Given the description of an element on the screen output the (x, y) to click on. 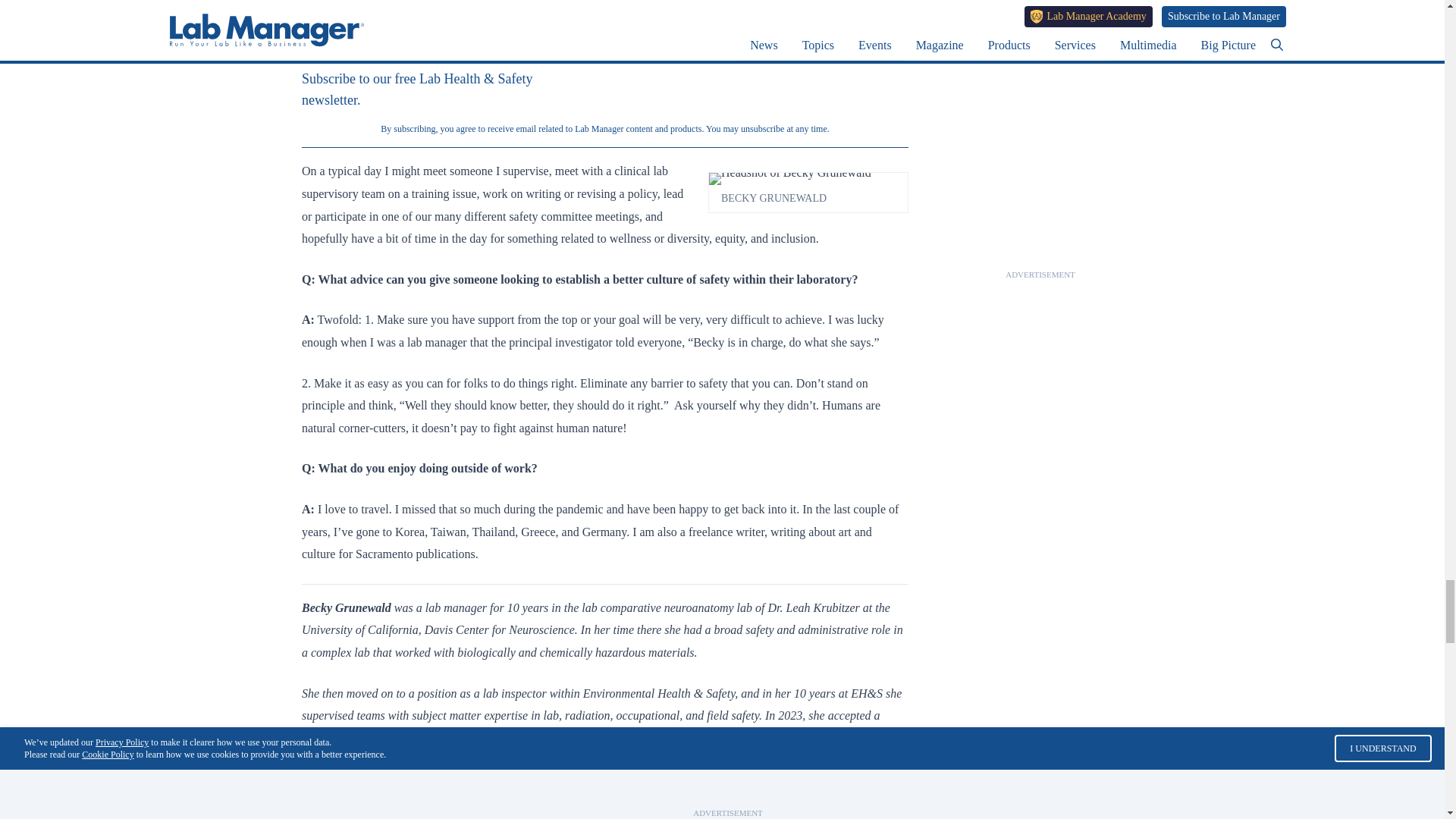
Headshot of Becky Grunewald (808, 178)
3rd party ad content (1040, 72)
3rd party ad content (1040, 676)
